Given the description of an element on the screen output the (x, y) to click on. 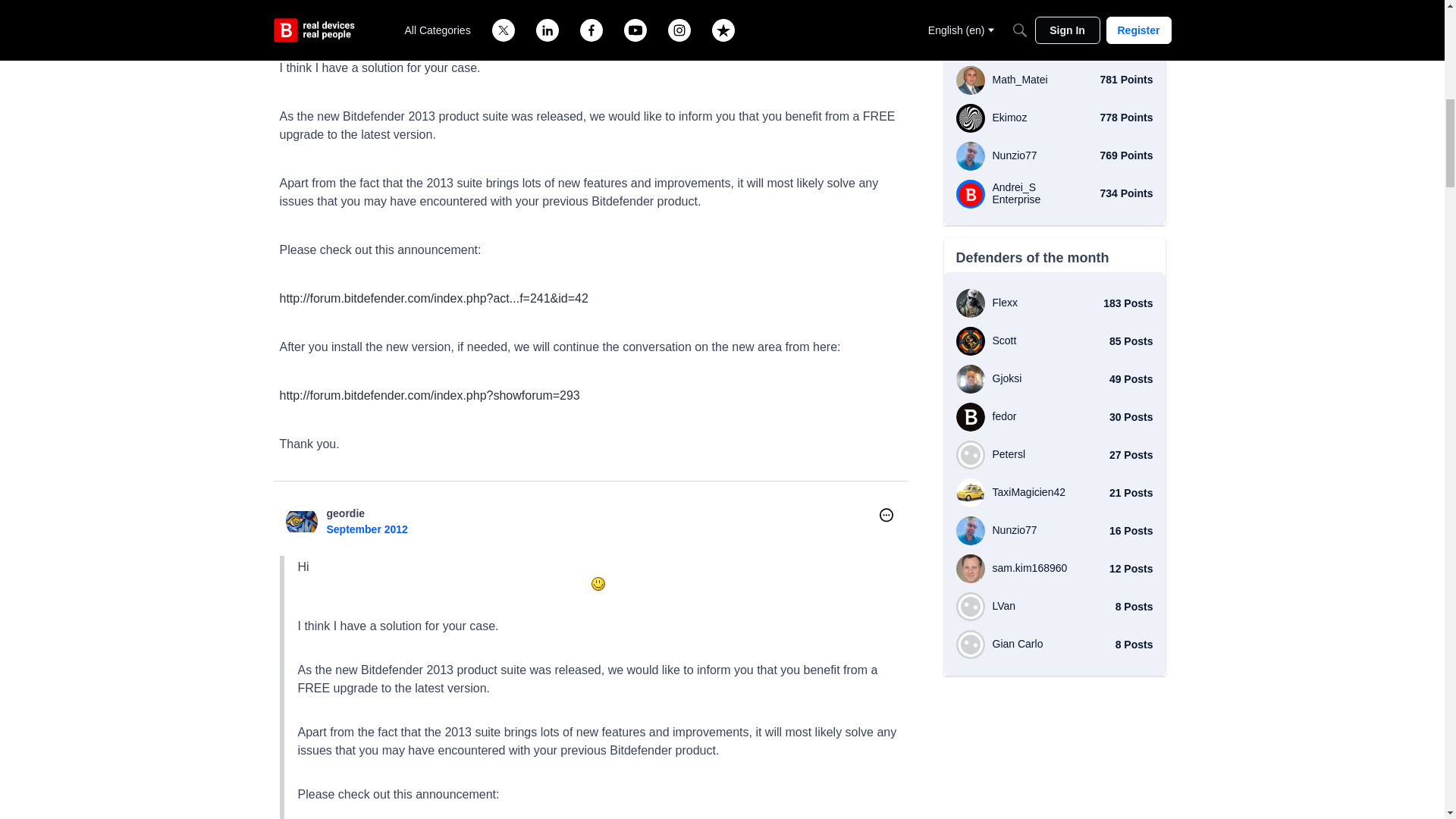
geordie (345, 512)
September 6, 2012 12:32PM (366, 529)
geordie (301, 521)
September 2012 (366, 529)
